Given the description of an element on the screen output the (x, y) to click on. 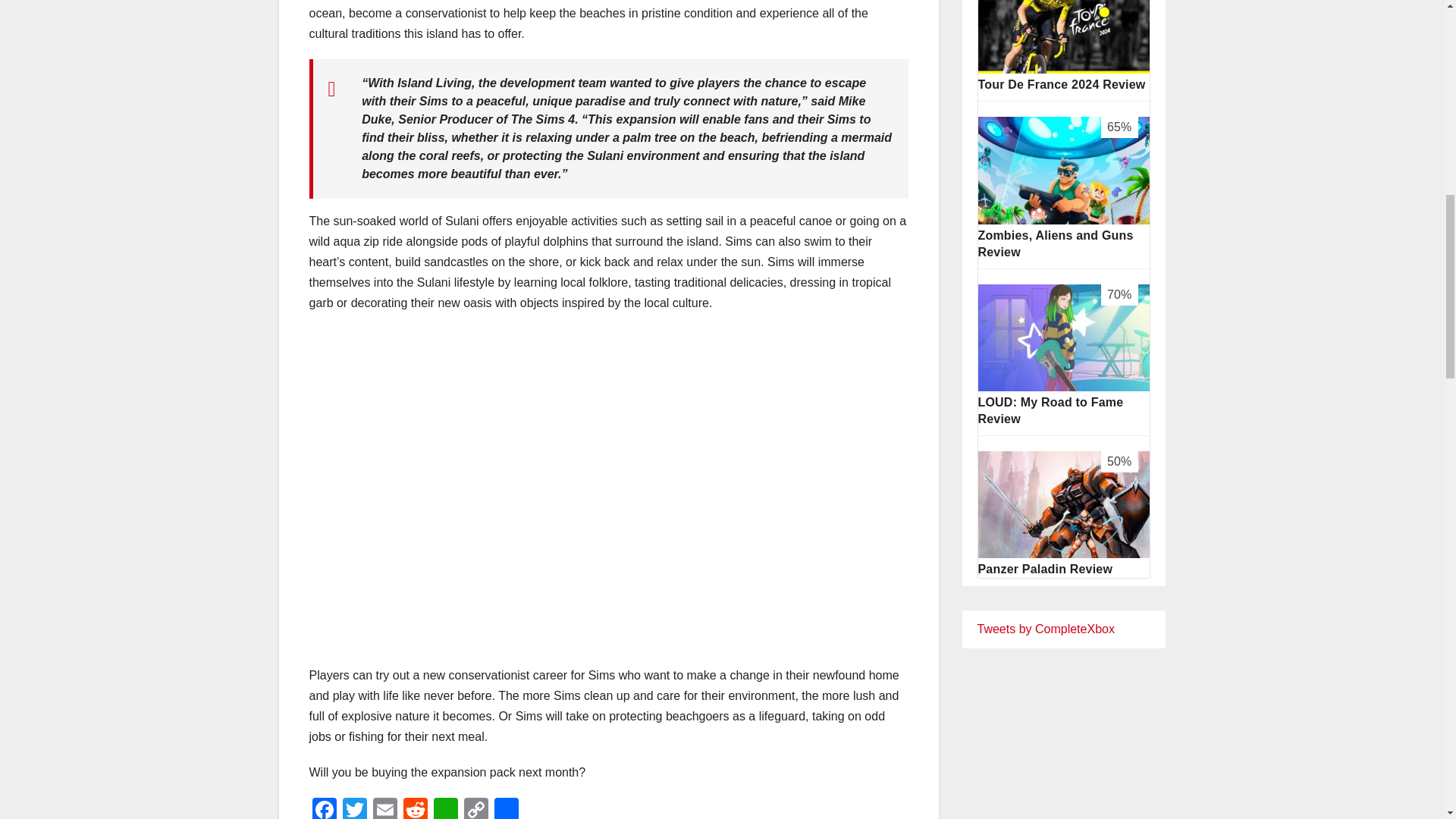
Reddit (415, 808)
Share (506, 808)
Email (384, 808)
Facebook (323, 808)
Email (384, 808)
WhatsApp (445, 808)
Copy Link (476, 808)
Facebook (323, 808)
Twitter (354, 808)
Twitter (354, 808)
